Given the description of an element on the screen output the (x, y) to click on. 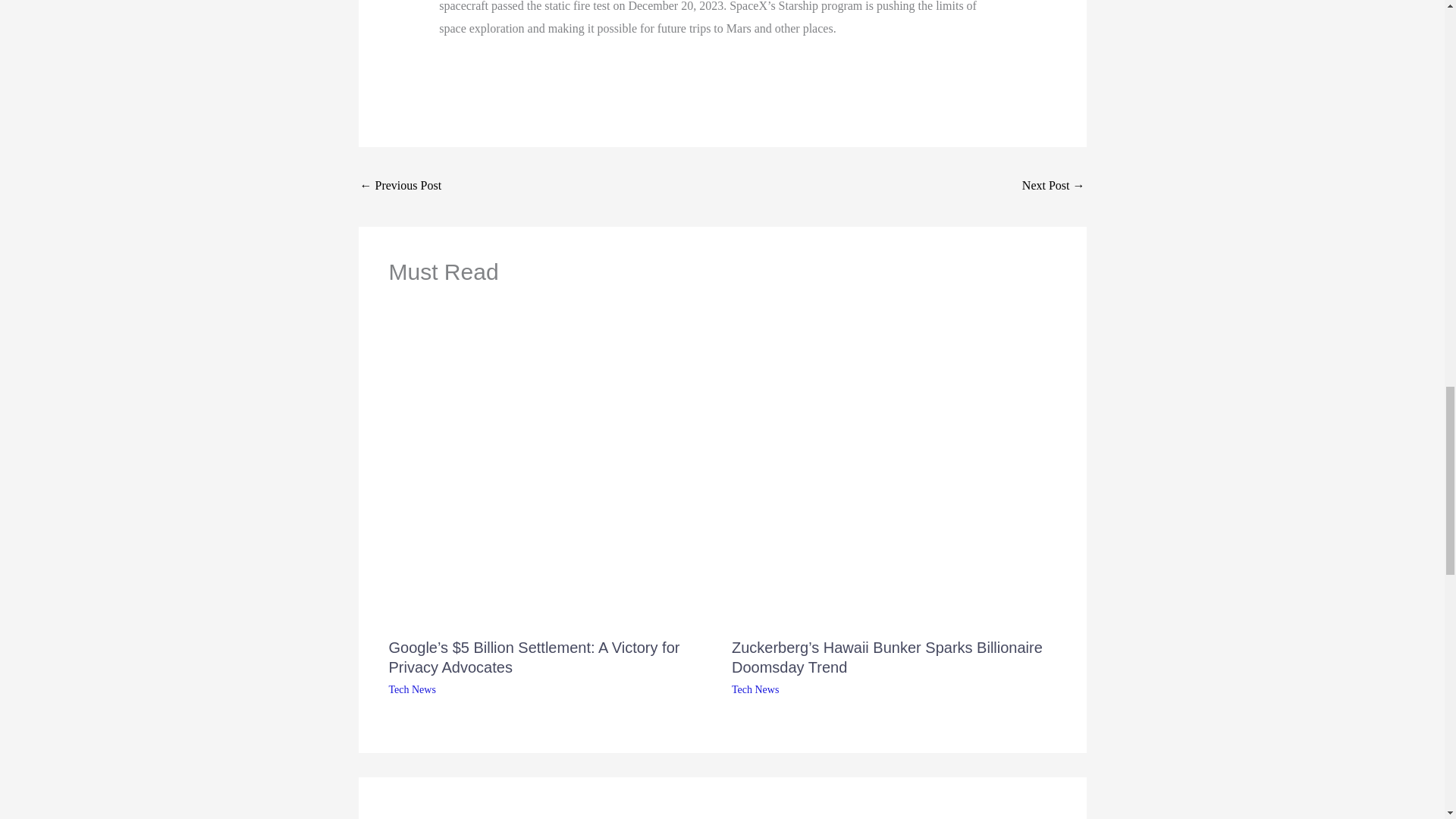
Zuckerberg's Hawaii Bunker Sparks Billionaire Doomsday Trend (400, 186)
Tech News (411, 689)
Fake or real? Spot AI content with these tricks (1053, 186)
Tech News (755, 689)
